Given the description of an element on the screen output the (x, y) to click on. 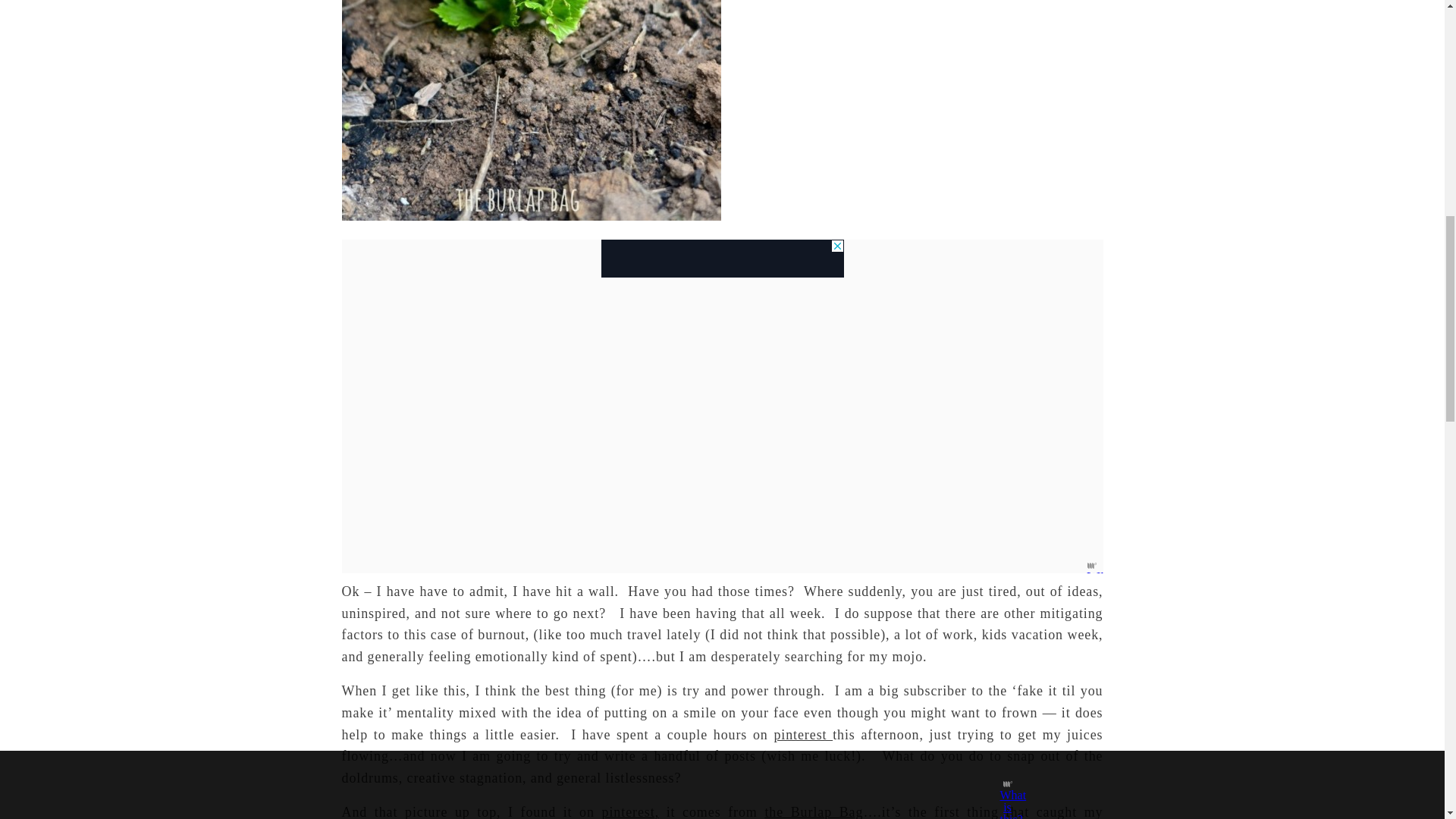
the Burlap Bag (813, 811)
3rd party ad content (721, 258)
pinterest (802, 734)
pinterest, (630, 811)
